Given the description of an element on the screen output the (x, y) to click on. 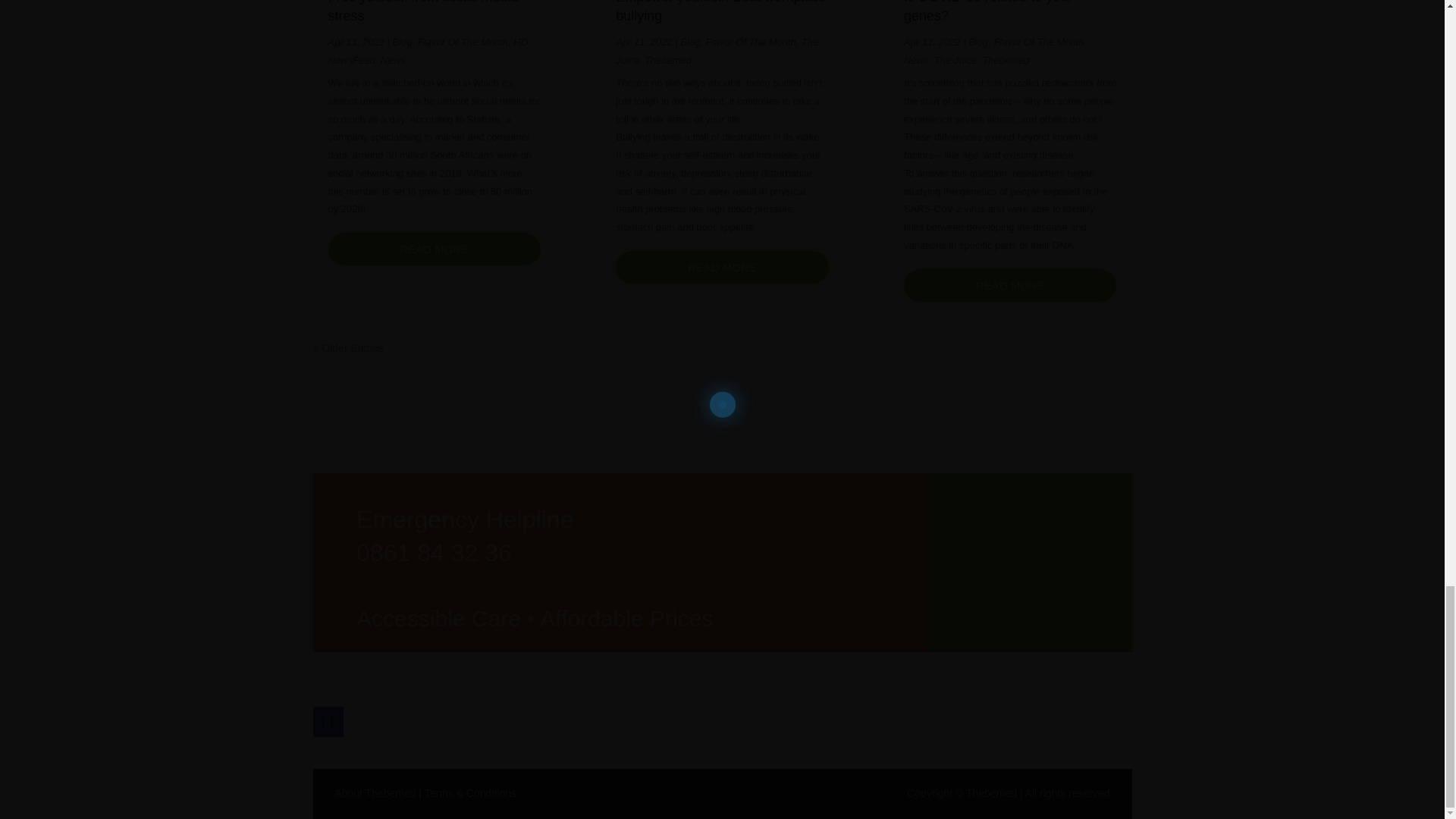
Thebemed Logo - White (1029, 562)
Administered-by-MomTYB (995, 724)
Follow on Facebook (327, 721)
covid-500x (680, 724)
